Given the description of an element on the screen output the (x, y) to click on. 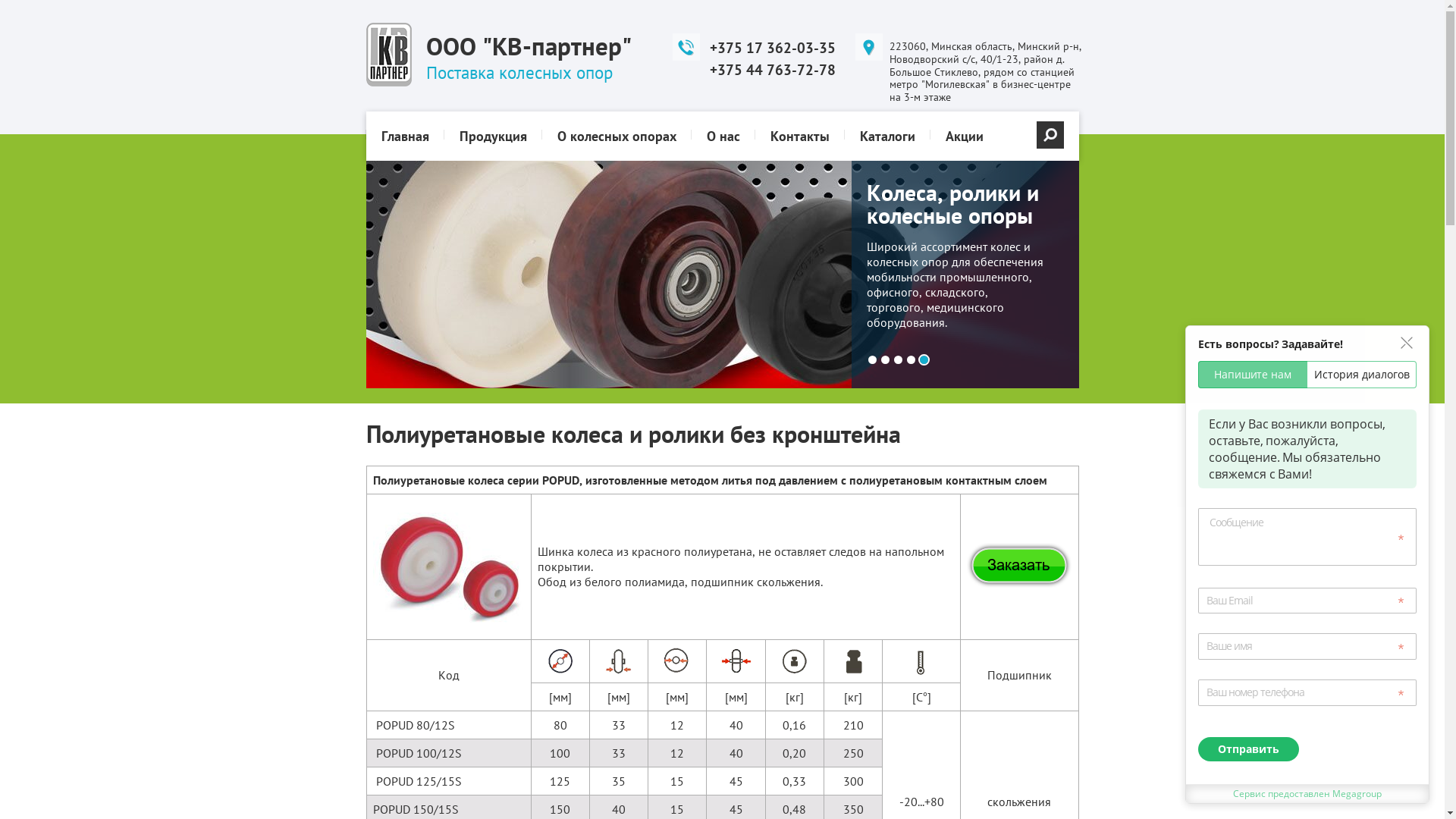
Megagroup Element type: text (1356, 793)
+375 17 362-03-35 Element type: text (772, 47)
+375 44 763-72-78 Element type: text (772, 69)
